Given the description of an element on the screen output the (x, y) to click on. 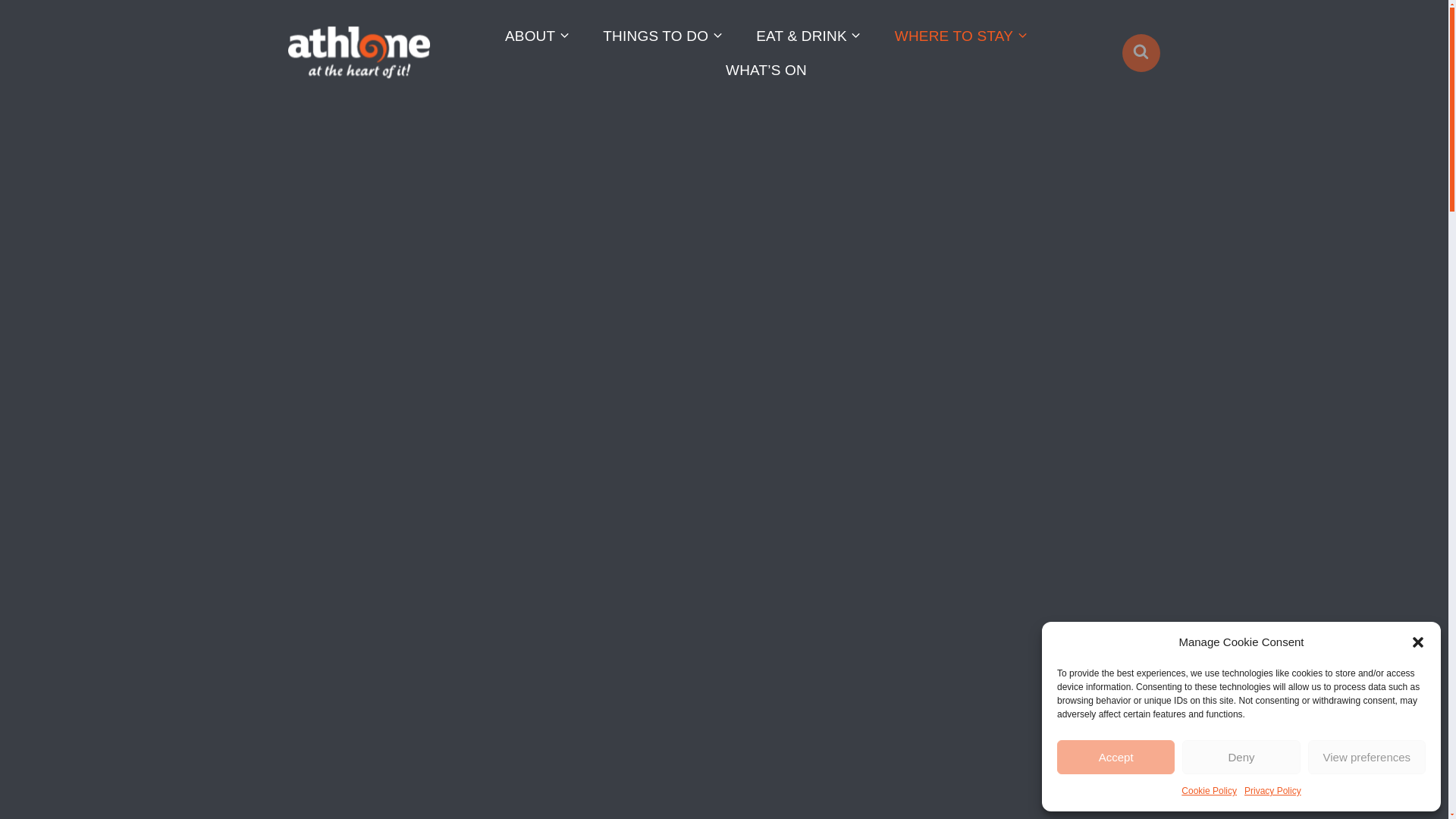
Cookie Policy (1208, 791)
ABOUT (536, 35)
Deny (1241, 756)
THINGS TO DO (662, 35)
WHERE TO STAY (960, 35)
Privacy Policy (1272, 791)
Accept (1115, 756)
View preferences (1366, 756)
